Given the description of an element on the screen output the (x, y) to click on. 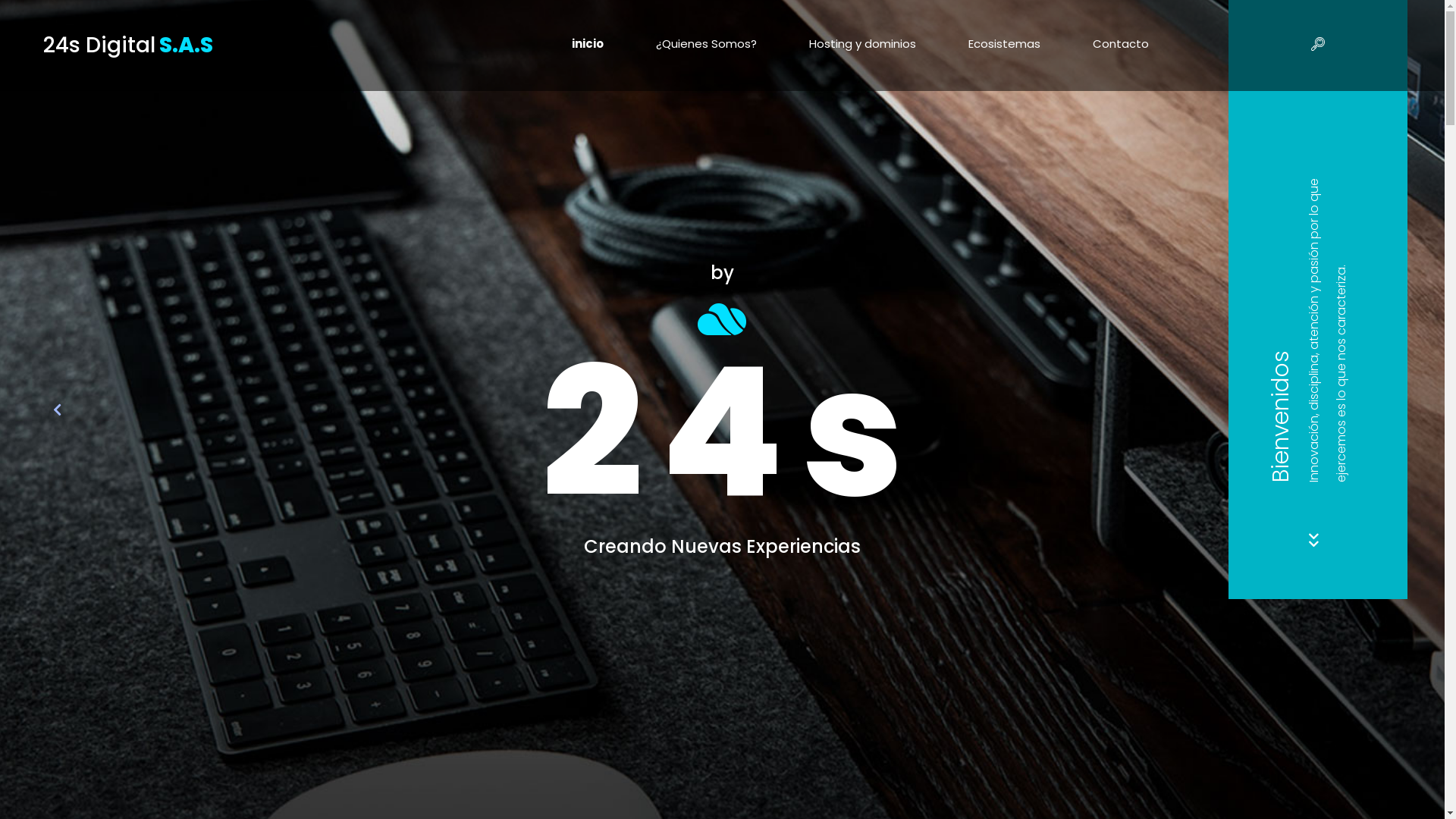
24s Digital S.A.S Element type: text (128, 44)
inicio Element type: text (587, 43)
Contacto Element type: text (1120, 43)
Hosting y dominios Element type: text (862, 43)
Ecosistemas Element type: text (1004, 43)
